Given the description of an element on the screen output the (x, y) to click on. 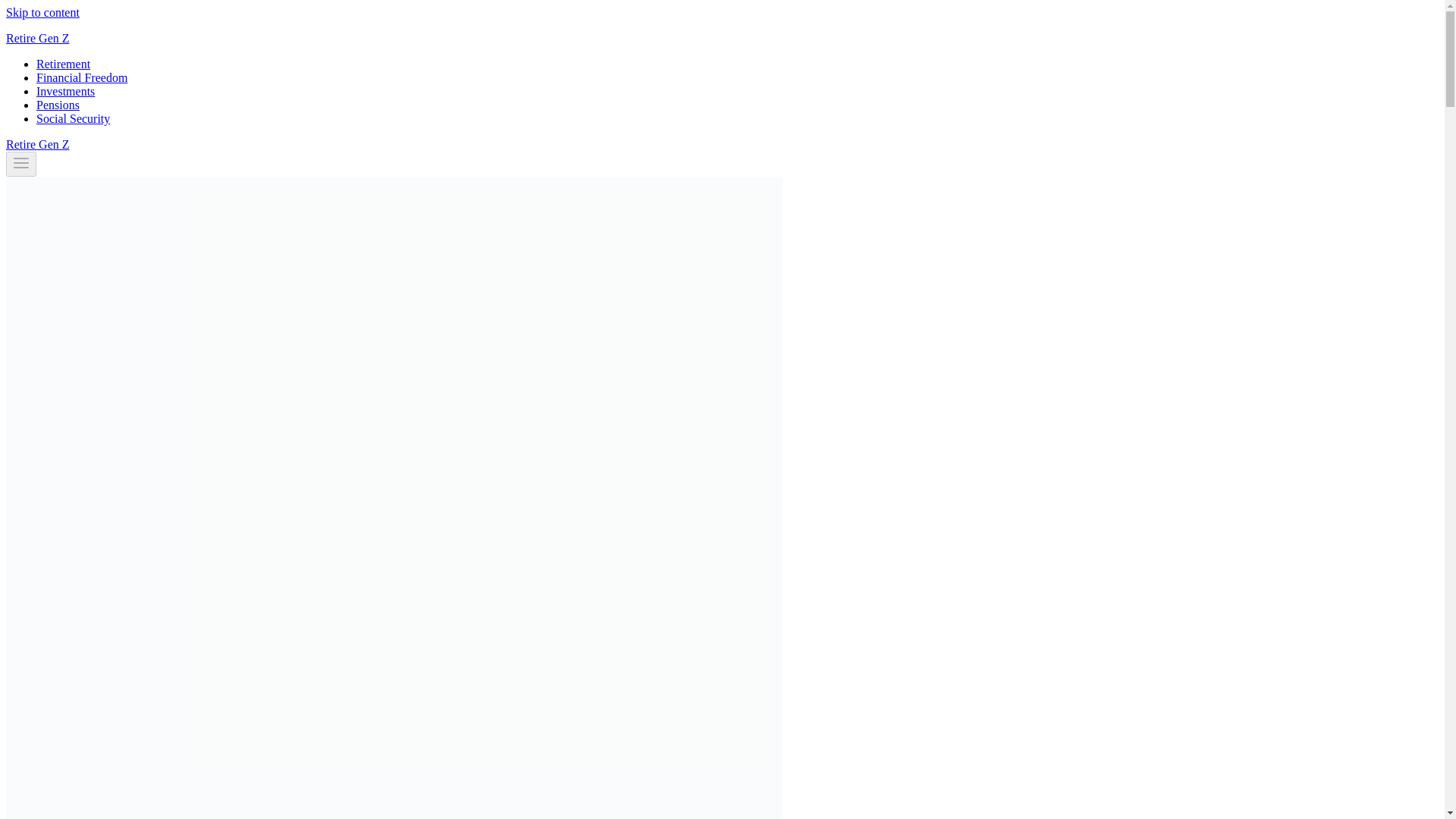
Skip to content (42, 11)
Toggle Menu (20, 162)
Skip to content (42, 11)
Toggle Menu (20, 163)
Investments (65, 91)
Financial Freedom (82, 77)
Social Security (73, 118)
Pensions (58, 104)
Retirement (63, 63)
